Given the description of an element on the screen output the (x, y) to click on. 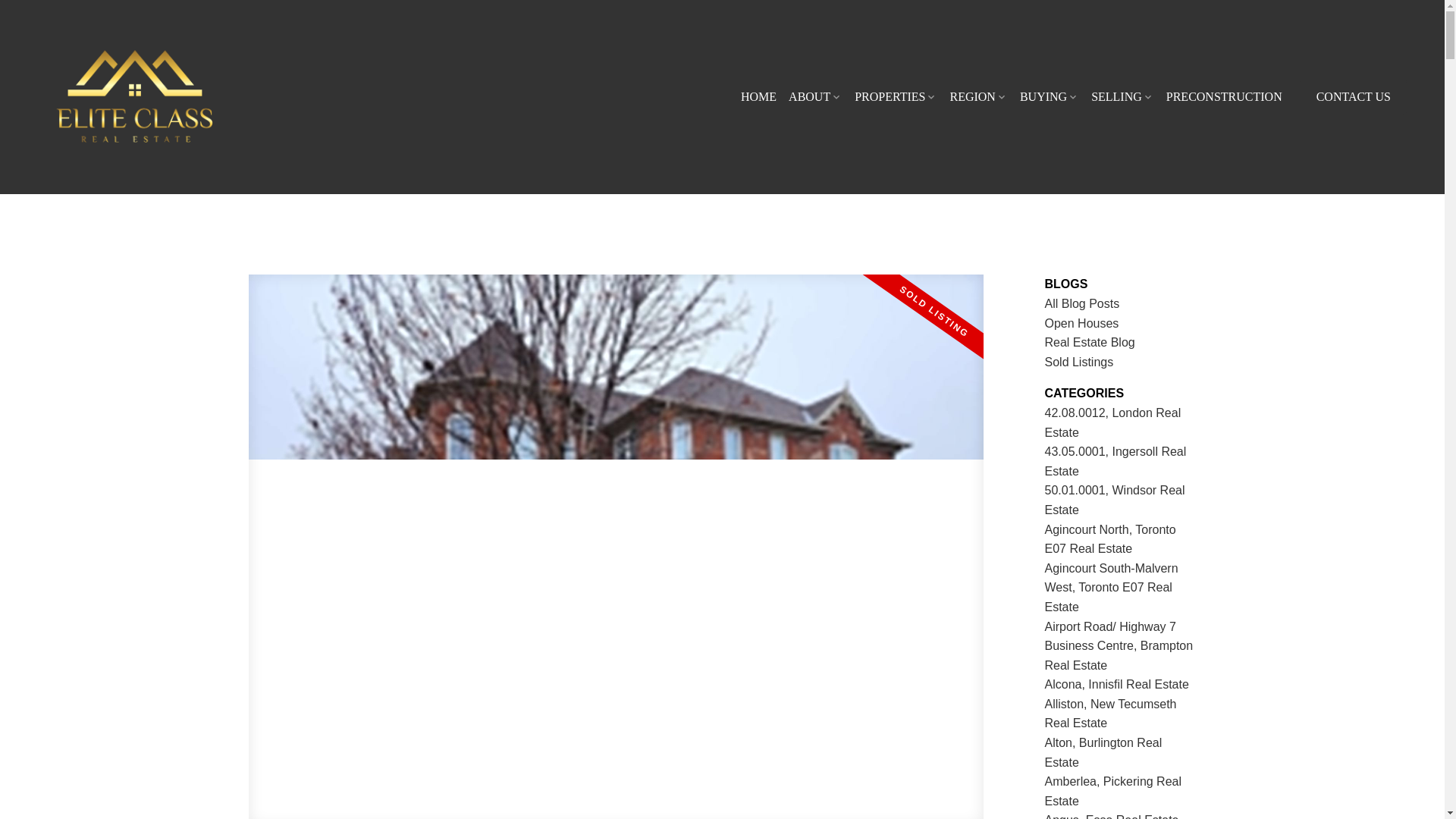
ABOUT (816, 96)
50.01.0001, Windsor Real Estate (1115, 500)
All Blog Posts (1082, 303)
43.05.0001, Ingersoll Real Estate (1115, 461)
42.08.0012, London Real Estate (1112, 422)
Real Estate Blog (1090, 341)
CONTACT US (1353, 96)
PRECONSTRUCTION (1224, 96)
HOME (758, 96)
BUYING (1049, 96)
